Given the description of an element on the screen output the (x, y) to click on. 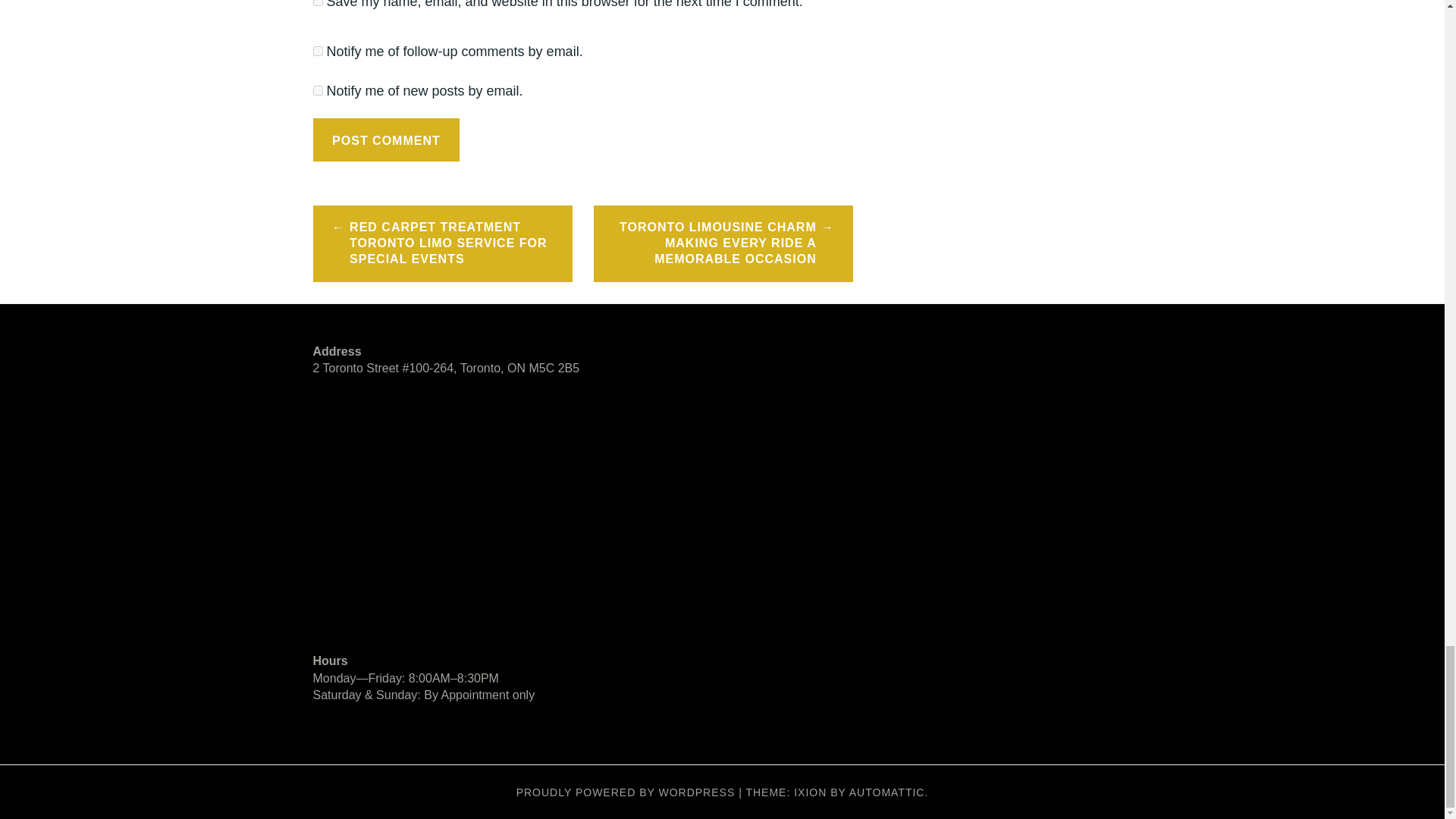
Post Comment (386, 139)
Post Comment (386, 139)
RED CARPET TREATMENT TORONTO LIMO SERVICE FOR SPECIAL EVENTS (442, 243)
yes (317, 2)
subscribe (317, 50)
subscribe (317, 90)
